Given the description of an element on the screen output the (x, y) to click on. 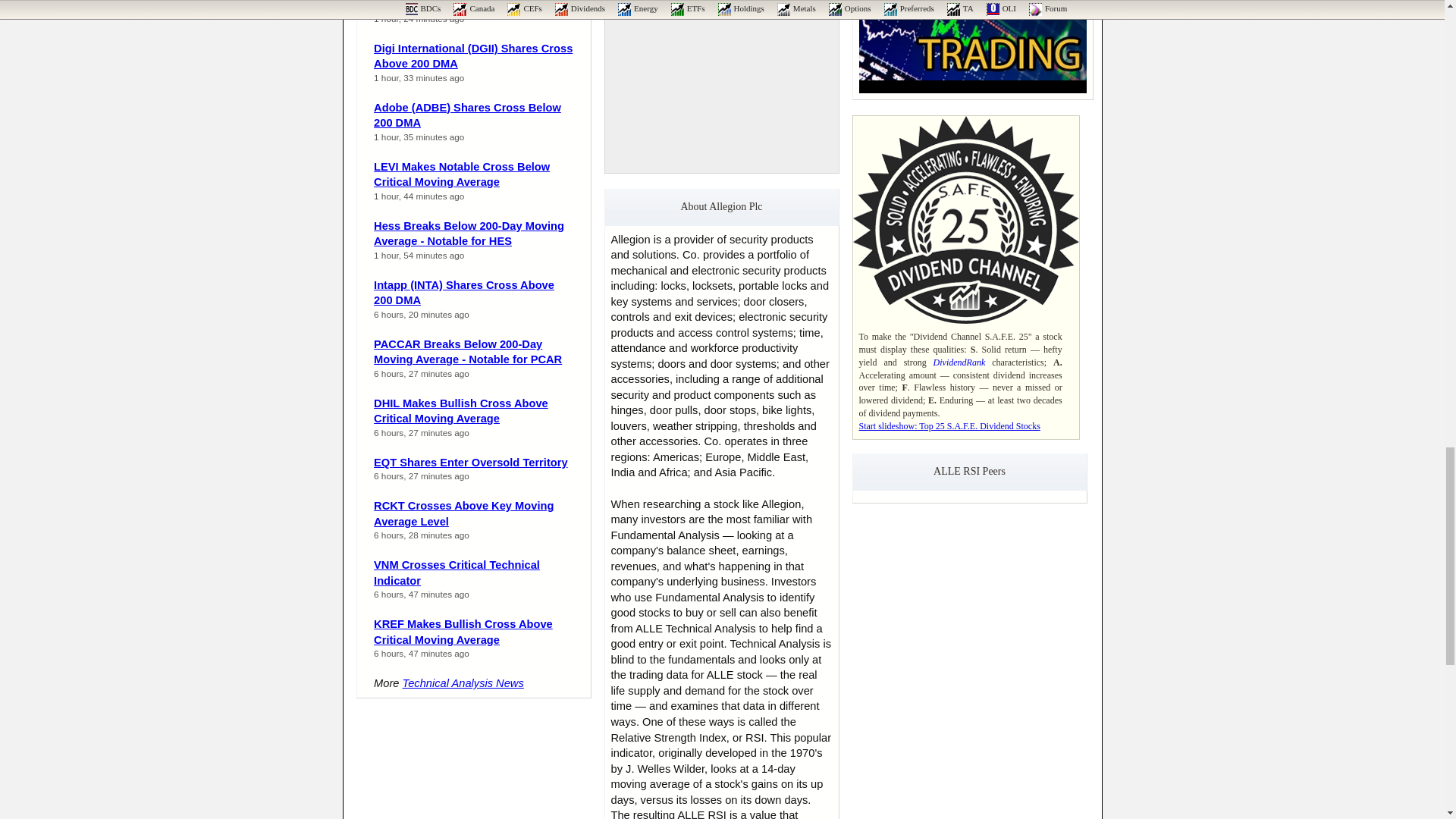
Technical Analysis News (463, 683)
EQT Shares Enter Oversold Territory (470, 462)
Hess Breaks Below 200-Day Moving Average - Notable for HES (469, 234)
DHIL Makes Bullish Cross Above Critical Moving Average (461, 411)
LEVI Makes Notable Cross Below Critical Moving Average (462, 174)
VNM Crosses Critical Technical Indicator (457, 572)
KREF Makes Bullish Cross Above Critical Moving Average (463, 632)
RCKT Crosses Above Key Moving Average Level (463, 513)
UTMD Makes Bullish Cross Above Critical Moving Average (464, 5)
